Given the description of an element on the screen output the (x, y) to click on. 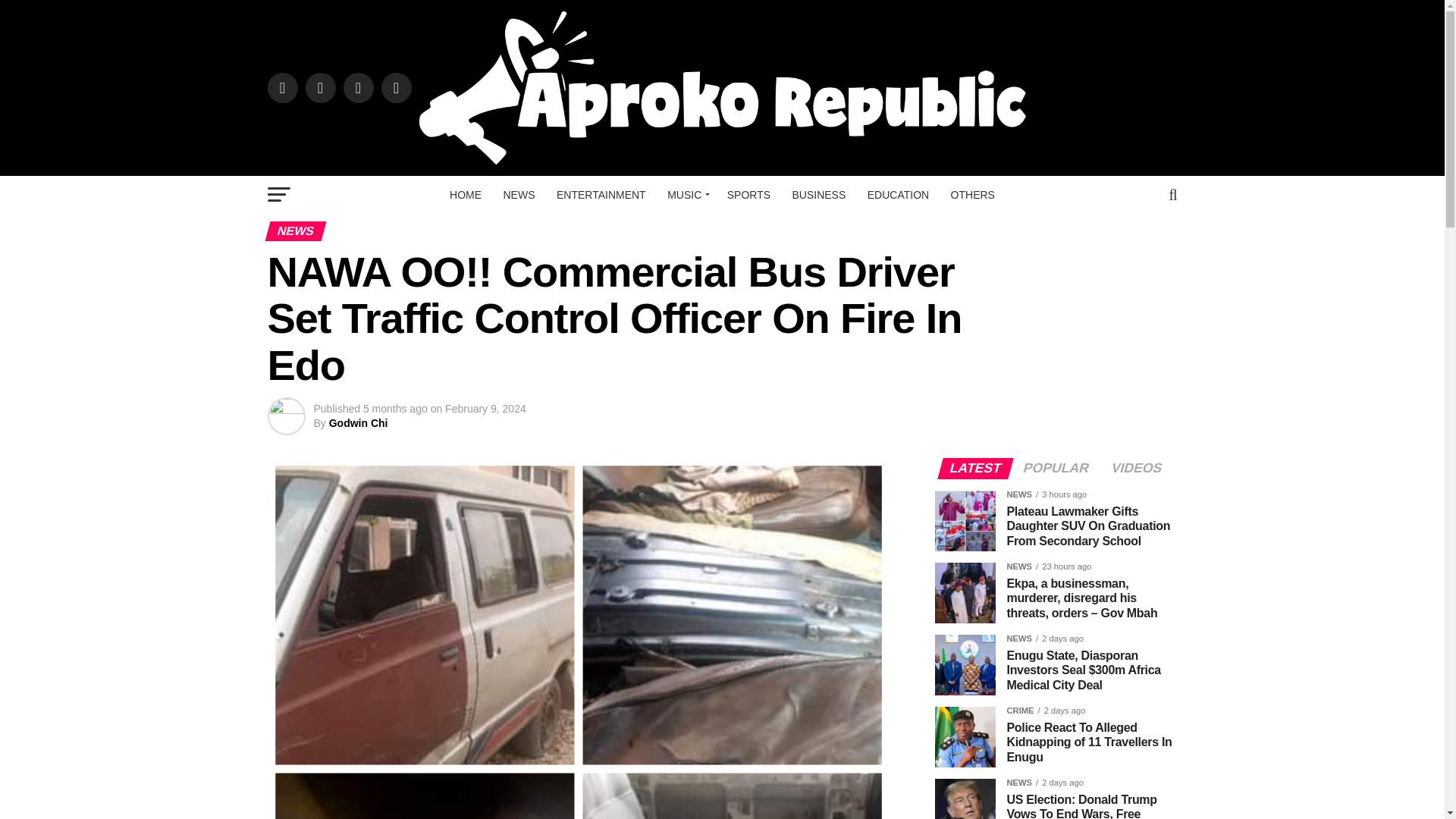
Posts by Godwin Chi (358, 422)
ENTERTAINMENT (601, 194)
HOME (465, 194)
MUSIC (686, 194)
NEWS (519, 194)
